Given the description of an element on the screen output the (x, y) to click on. 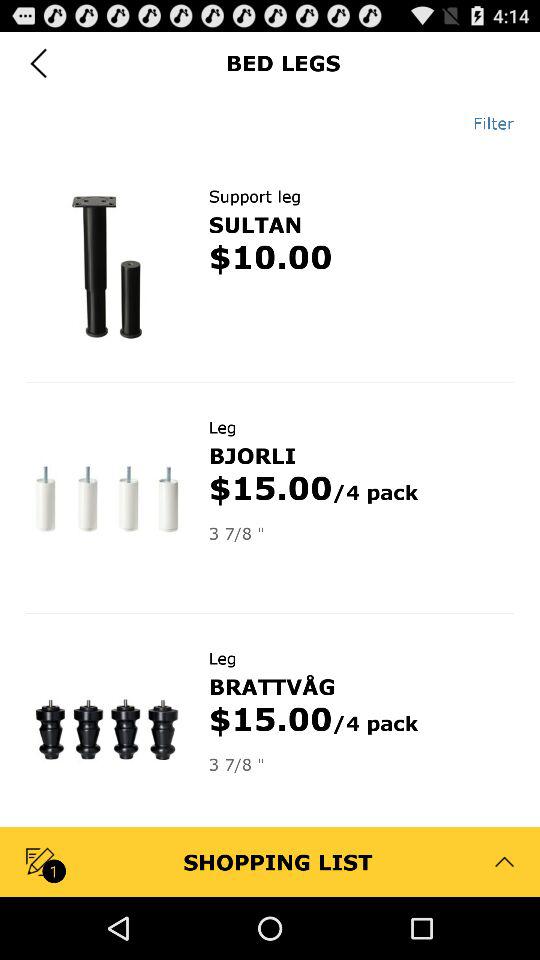
choose app below bed legs (486, 123)
